Given the description of an element on the screen output the (x, y) to click on. 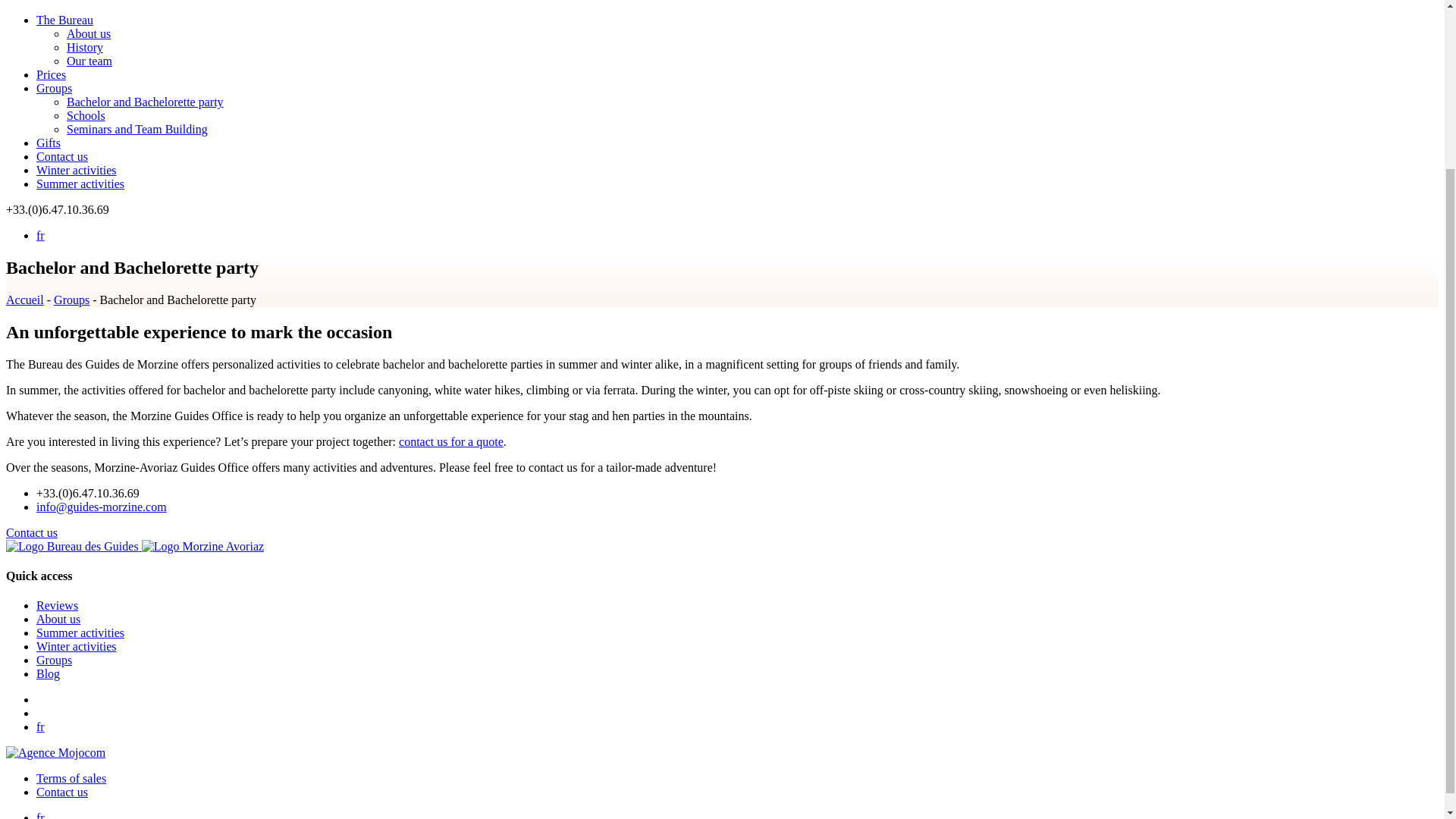
Seminars and Team Building (137, 128)
Bachelor and Bachelorette party (145, 101)
Gifts (48, 142)
Our team (89, 60)
contact us for a quote (450, 440)
About us (88, 33)
About us (58, 618)
Schools (85, 115)
Contact us (31, 532)
